Given the description of an element on the screen output the (x, y) to click on. 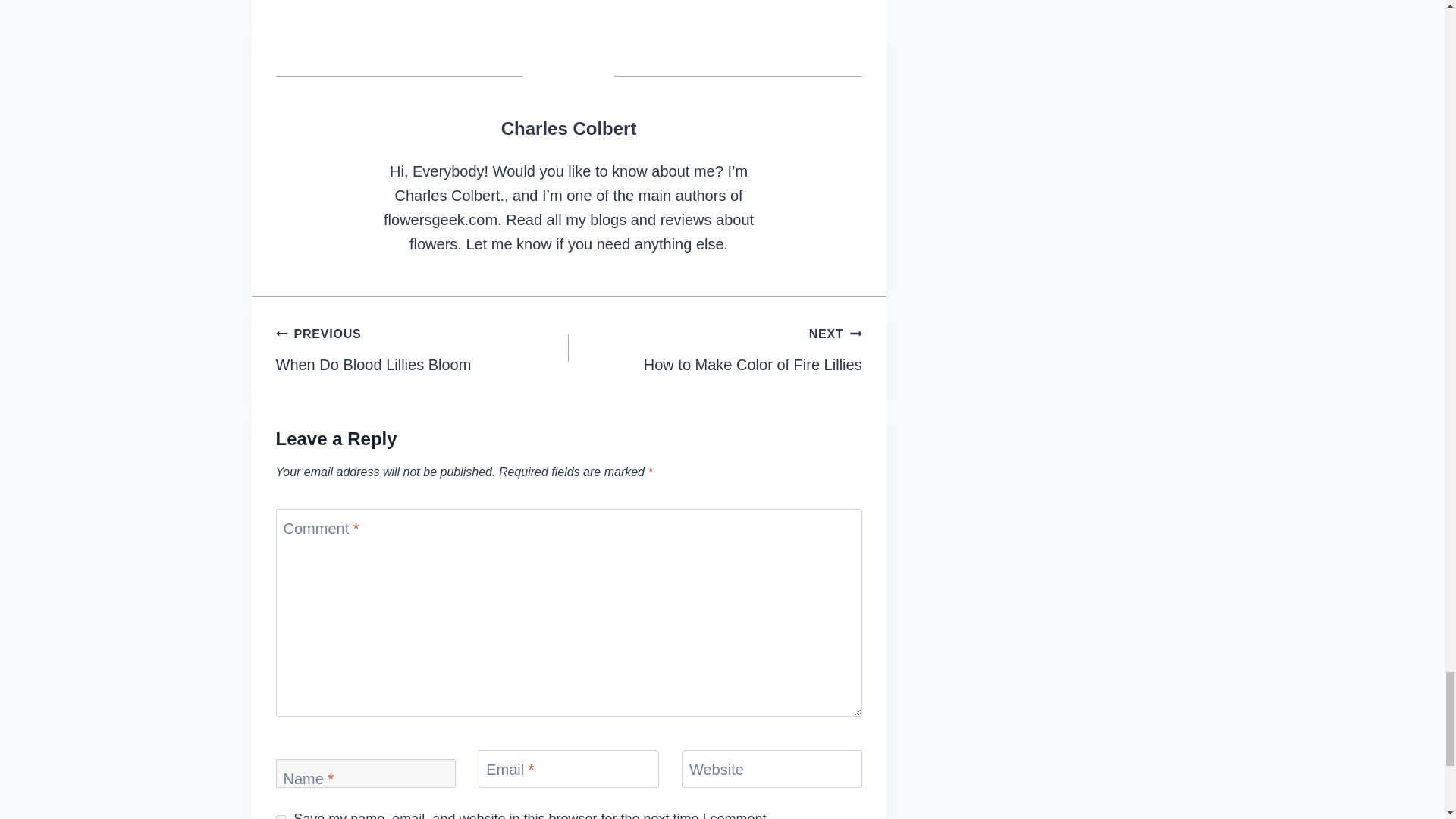
Posts by Charles Colbert (568, 127)
Charles Colbert (568, 127)
yes (715, 348)
